Given the description of an element on the screen output the (x, y) to click on. 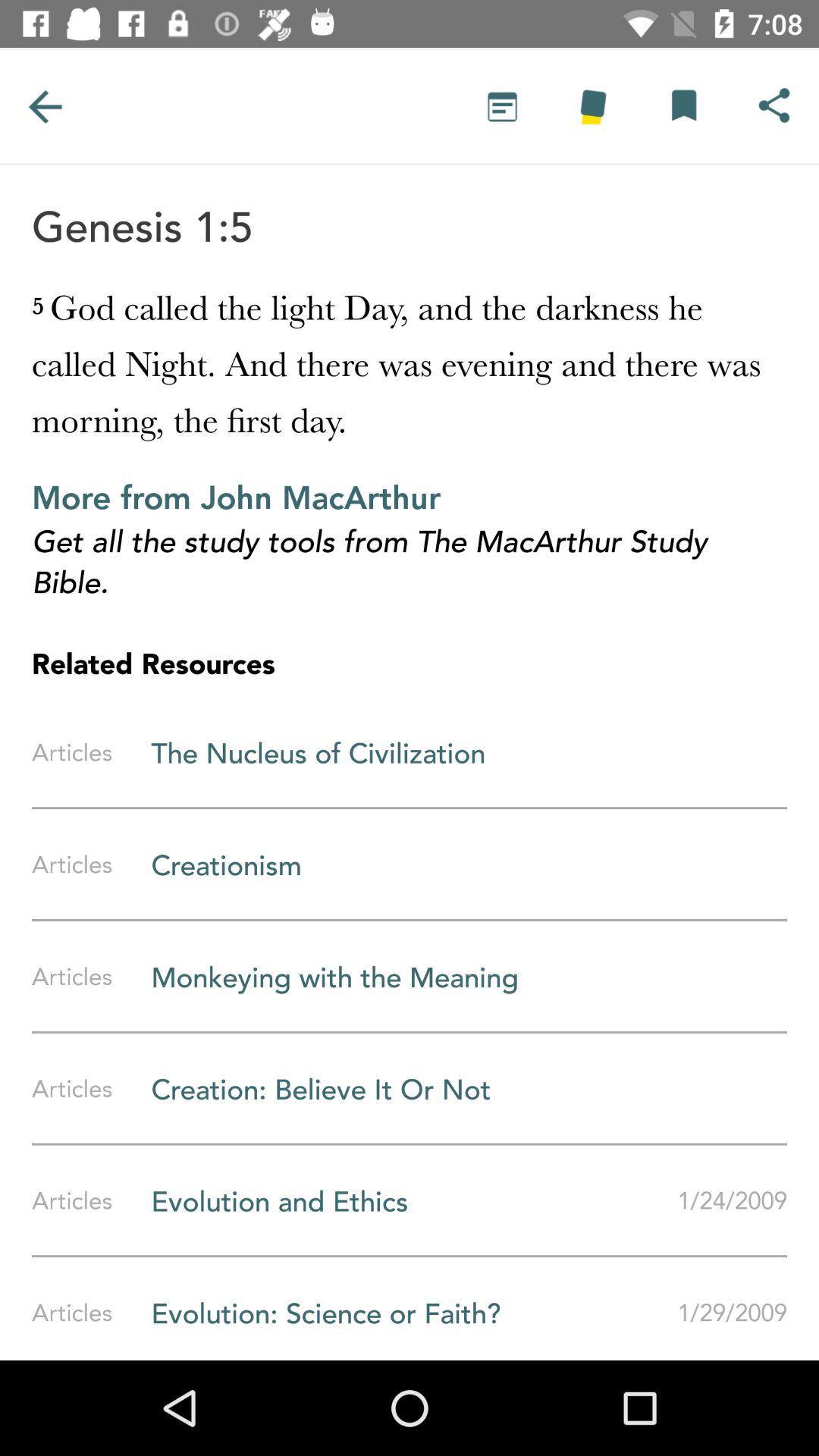
select it (683, 106)
